Given the description of an element on the screen output the (x, y) to click on. 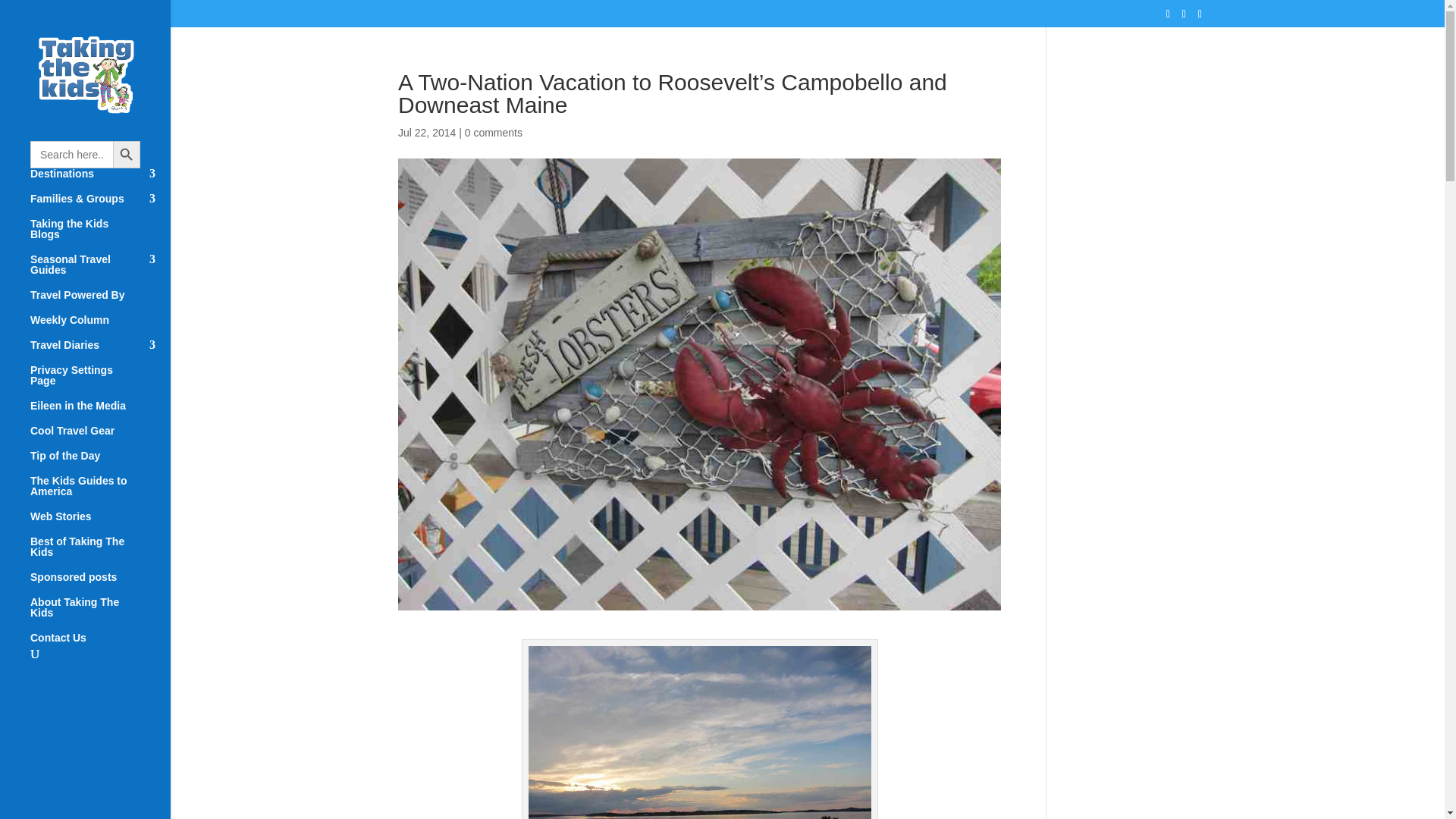
Tip of the Day (100, 462)
Seasonal Travel Guides (100, 271)
Eileen in the Media (100, 412)
Search Button (126, 154)
Sponsored posts (100, 584)
The Kids Guides to America (100, 493)
Taking the Kids Blogs (100, 235)
Travel Powered By (100, 301)
Cool Travel Gear (100, 437)
Weekly Column (100, 326)
Best of Taking The Kids (100, 553)
Travel Diaries (100, 351)
Destinations (100, 180)
Web Stories (100, 523)
Privacy Settings Page (100, 382)
